Given the description of an element on the screen output the (x, y) to click on. 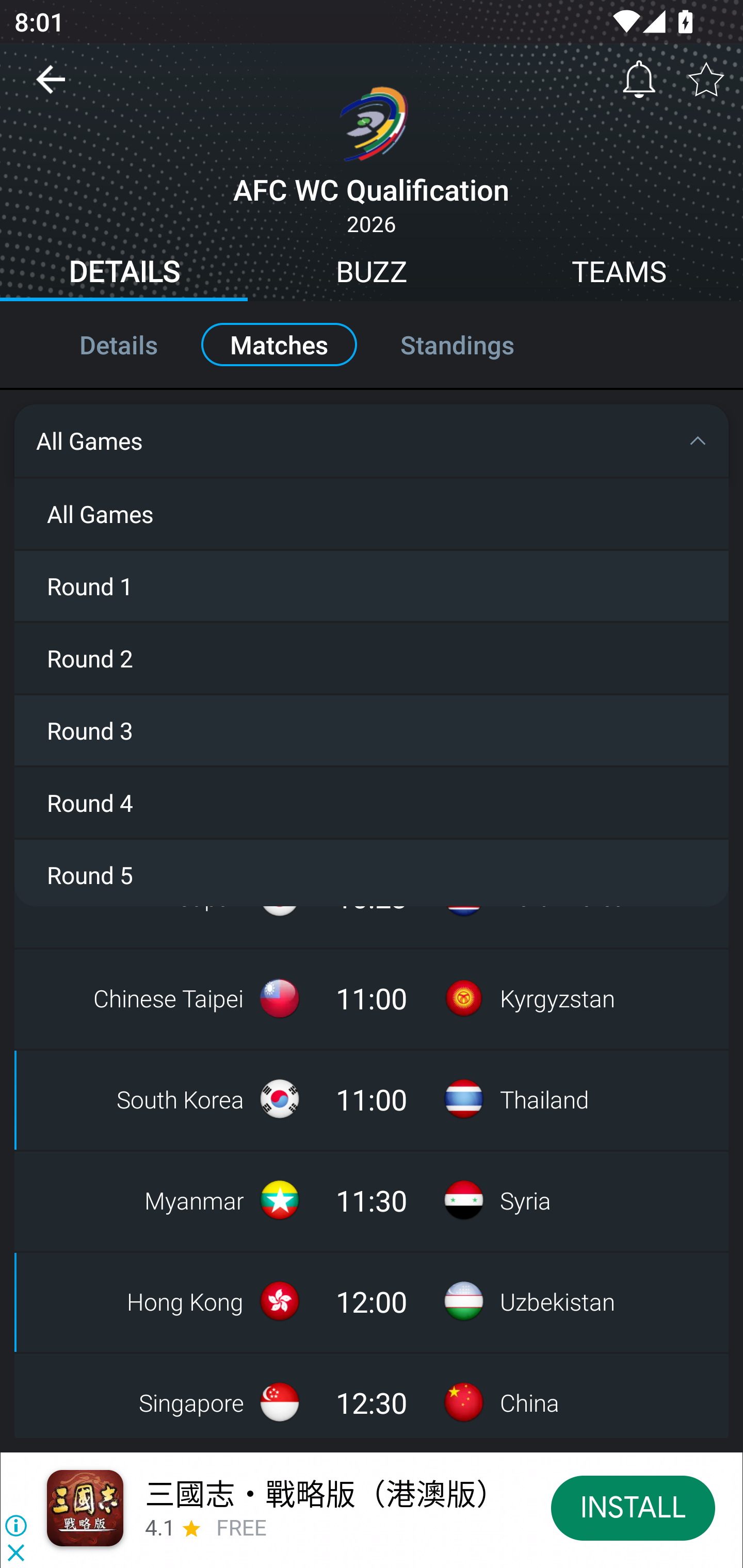
All Games (371, 512)
Round 1 (371, 584)
Round 2 (371, 656)
Round 3 (371, 729)
Round 4 (371, 801)
Round 5 (371, 871)
